Given the description of an element on the screen output the (x, y) to click on. 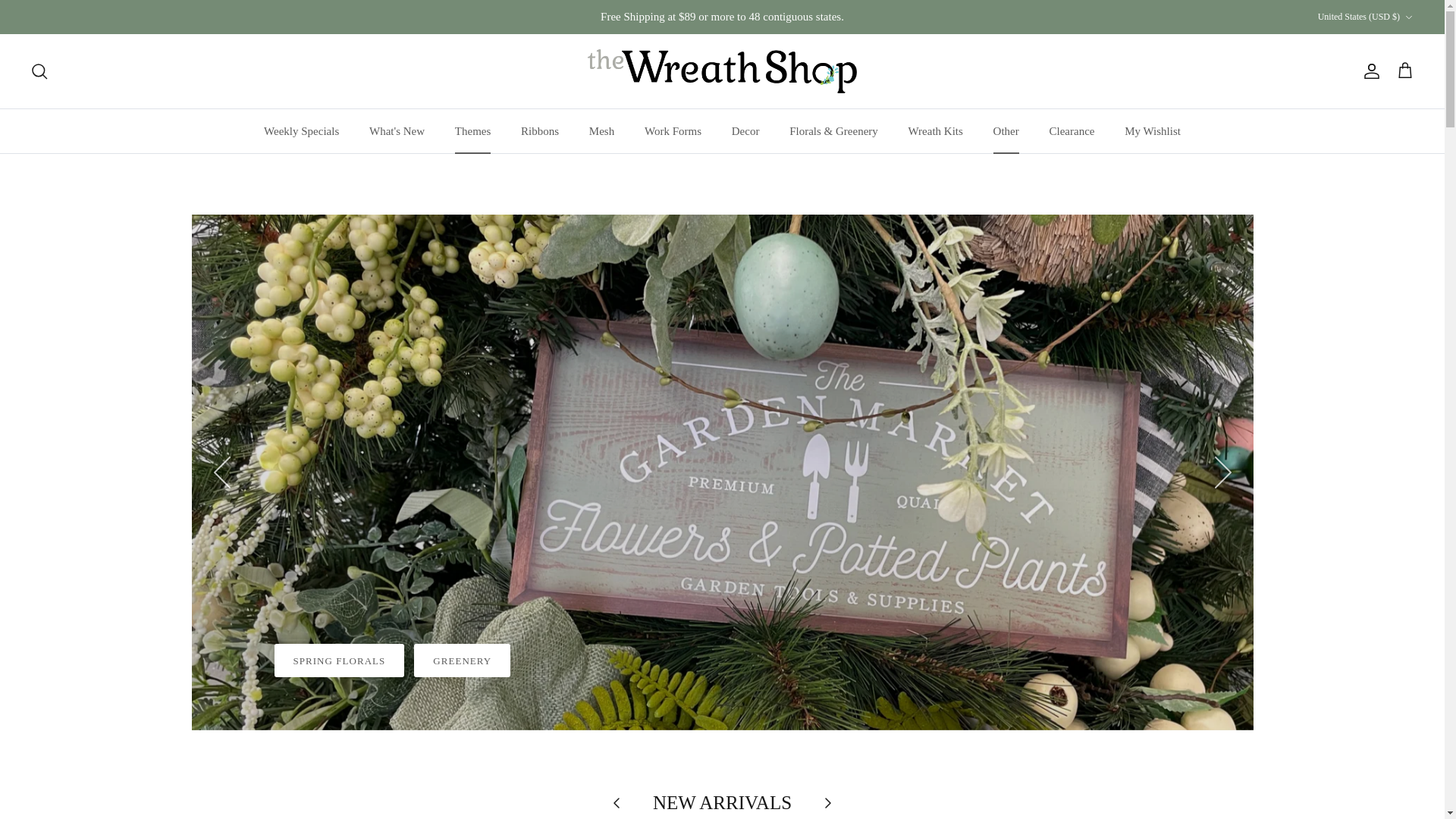
LEFT (220, 472)
The Wreath Shop (722, 71)
RIGHT (1222, 472)
Down (1408, 17)
Search (39, 71)
